Given the description of an element on the screen output the (x, y) to click on. 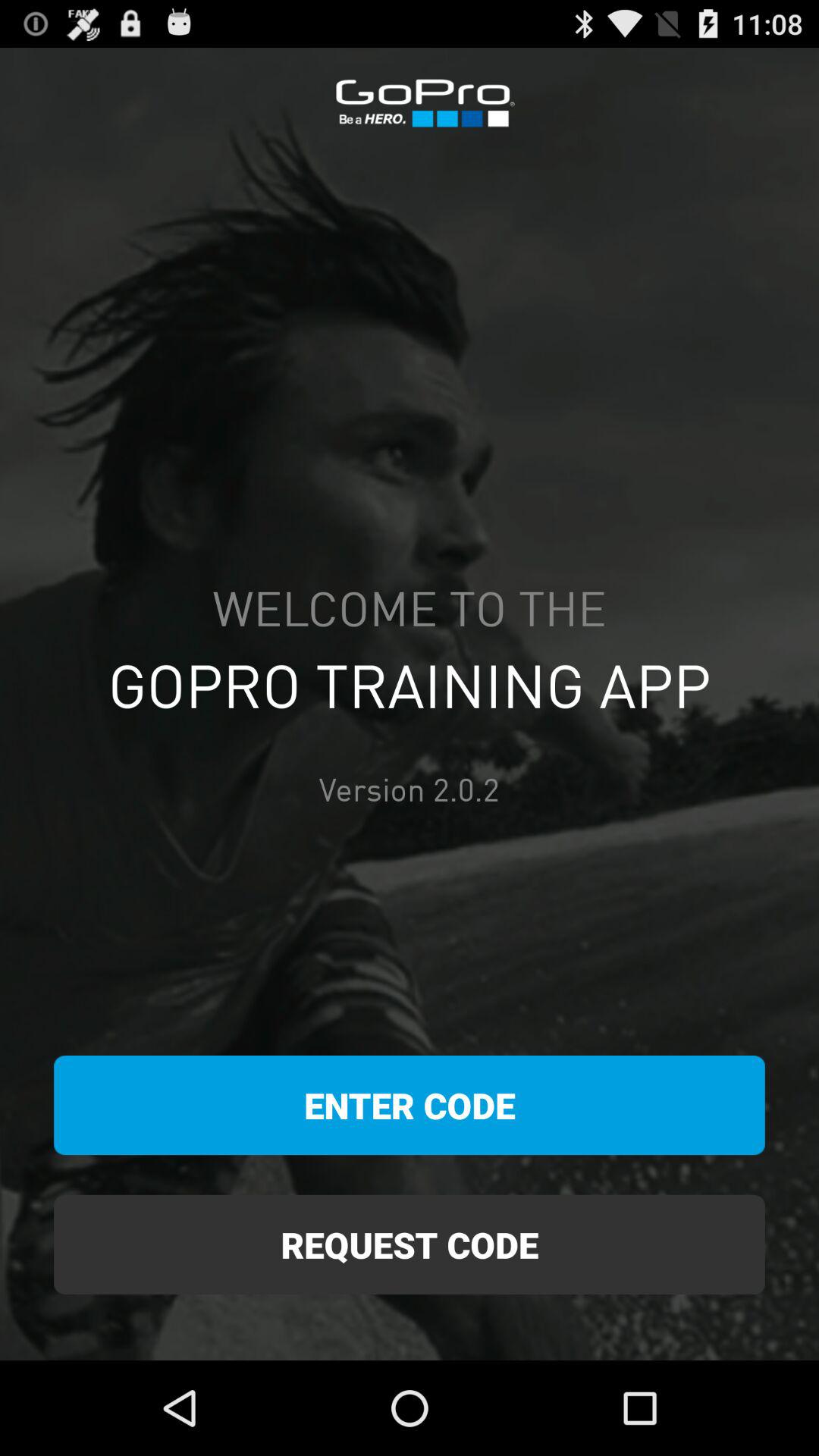
turn off request code (409, 1244)
